Given the description of an element on the screen output the (x, y) to click on. 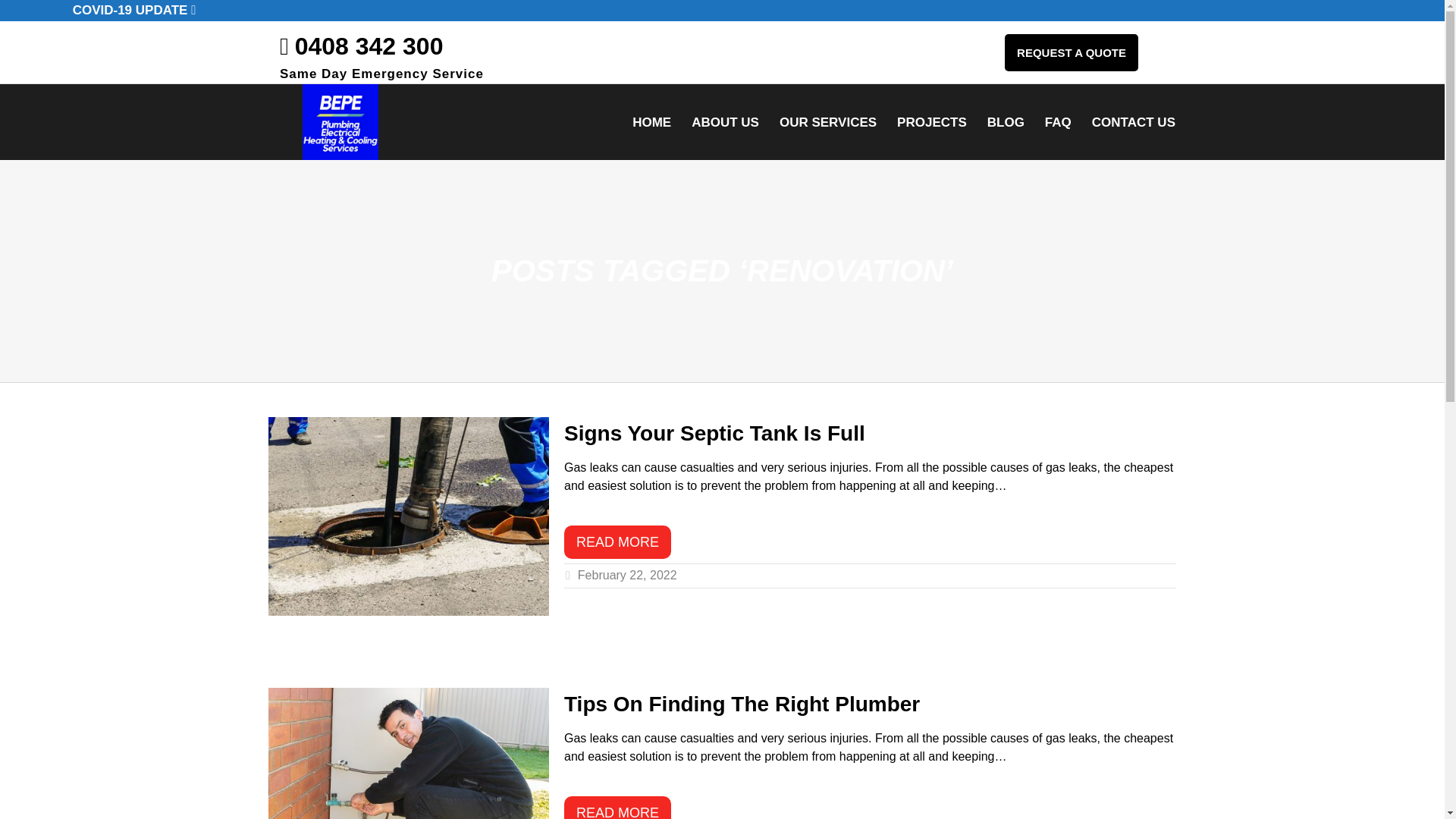
Permalink to Tips on Finding the Right Plumber (617, 807)
Permalink to Tips on Finding the Right Plumber (742, 703)
Permalink to Signs Your Septic Tank Is Full (407, 515)
0408 342 300 (360, 45)
Permalink to Signs Your Septic Tank Is Full (617, 541)
COVID-19 UPDATE (133, 10)
REQUEST A QUOTE (1071, 52)
ABOUT US (725, 121)
OUR SERVICES (827, 121)
Permalink to Signs Your Septic Tank Is Full (714, 433)
